Given the description of an element on the screen output the (x, y) to click on. 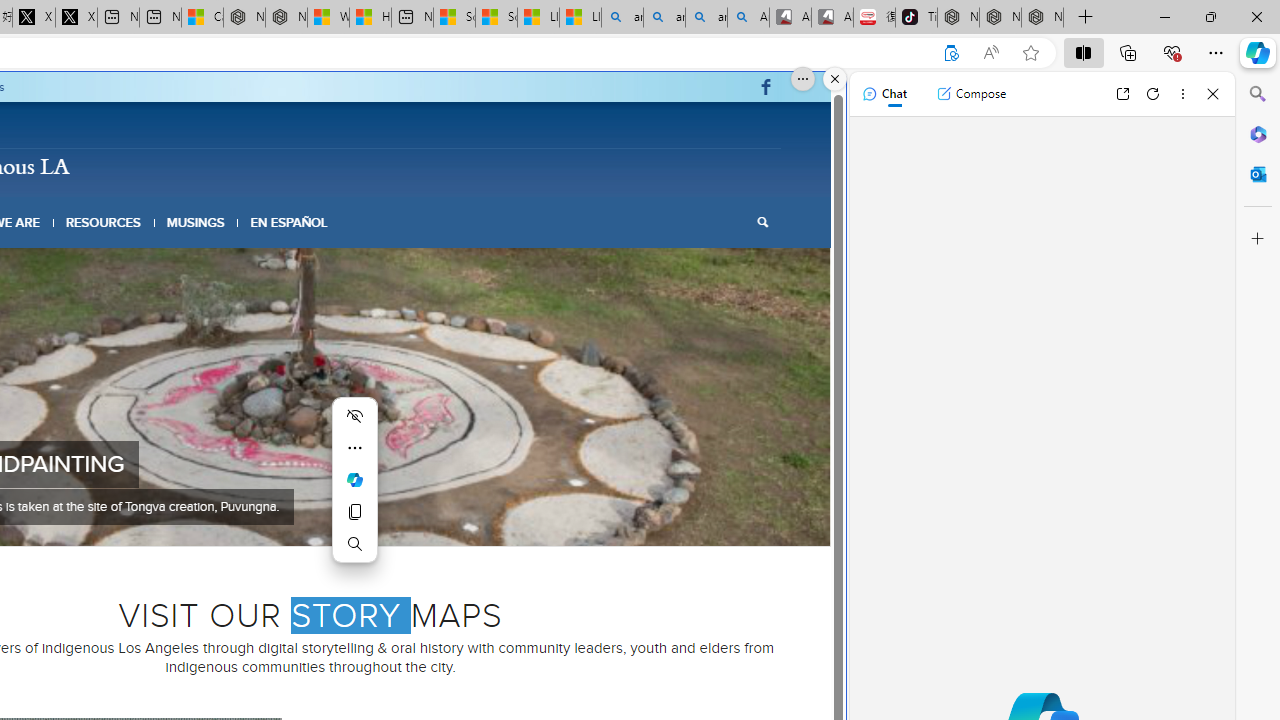
More actions (354, 447)
Nordace - Summer Adventures 2024 (286, 17)
RESOURCES (102, 222)
Minimize (1164, 16)
Hide menu (354, 416)
Search (761, 222)
More options. (803, 79)
amazon - Search (663, 17)
More options (1182, 93)
8 (365, 520)
Browser essentials (1171, 52)
Copy (354, 511)
Chat (884, 93)
Search (1258, 94)
